Given the description of an element on the screen output the (x, y) to click on. 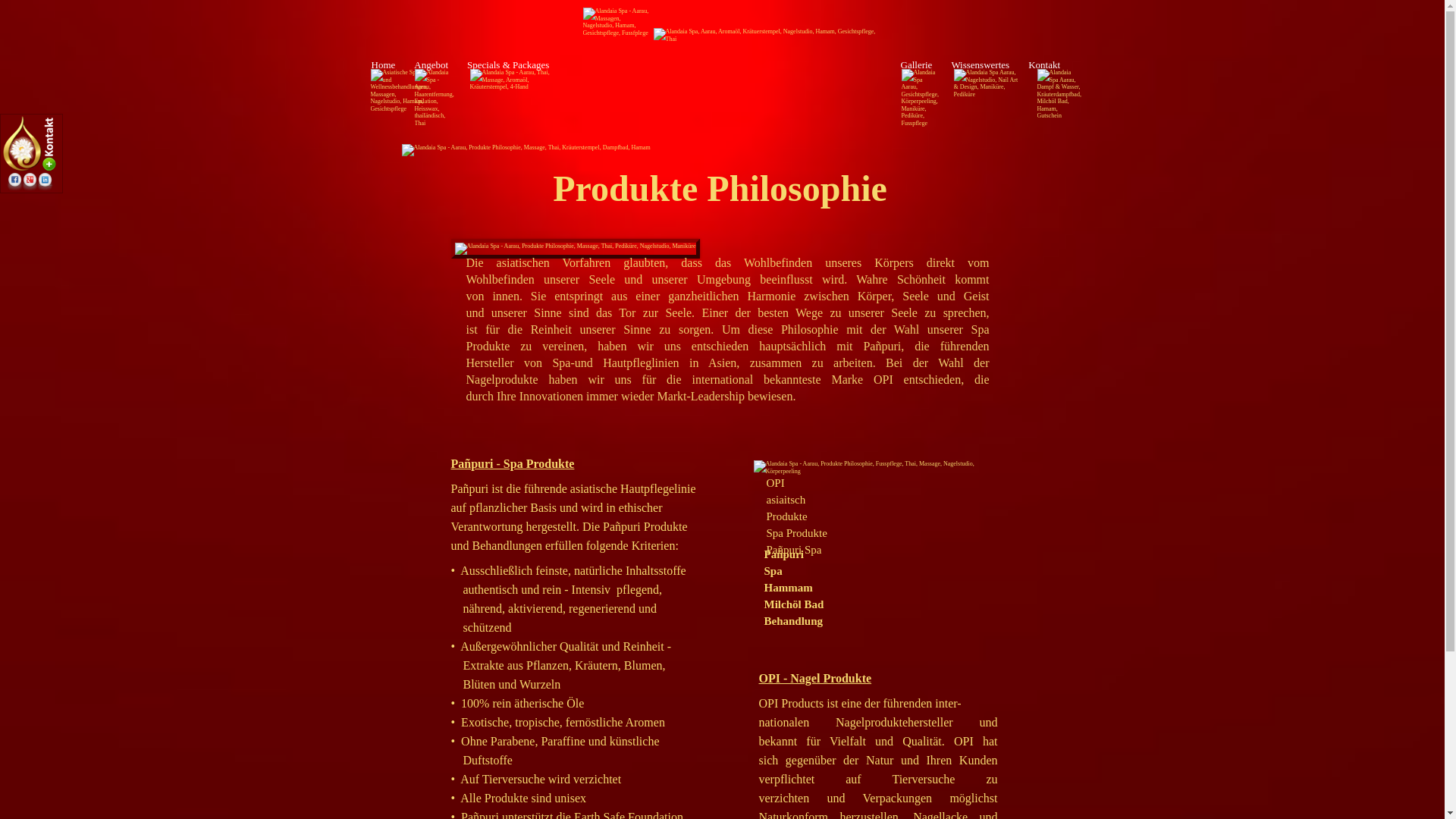
Kontakt Element type: text (1043, 64)
Home Element type: text (382, 64)
Angebot Element type: text (430, 64)
Gallerie Element type: text (915, 64)
Wissenswertes Element type: text (980, 64)
Specials & Packages Element type: text (507, 64)
